Given the description of an element on the screen output the (x, y) to click on. 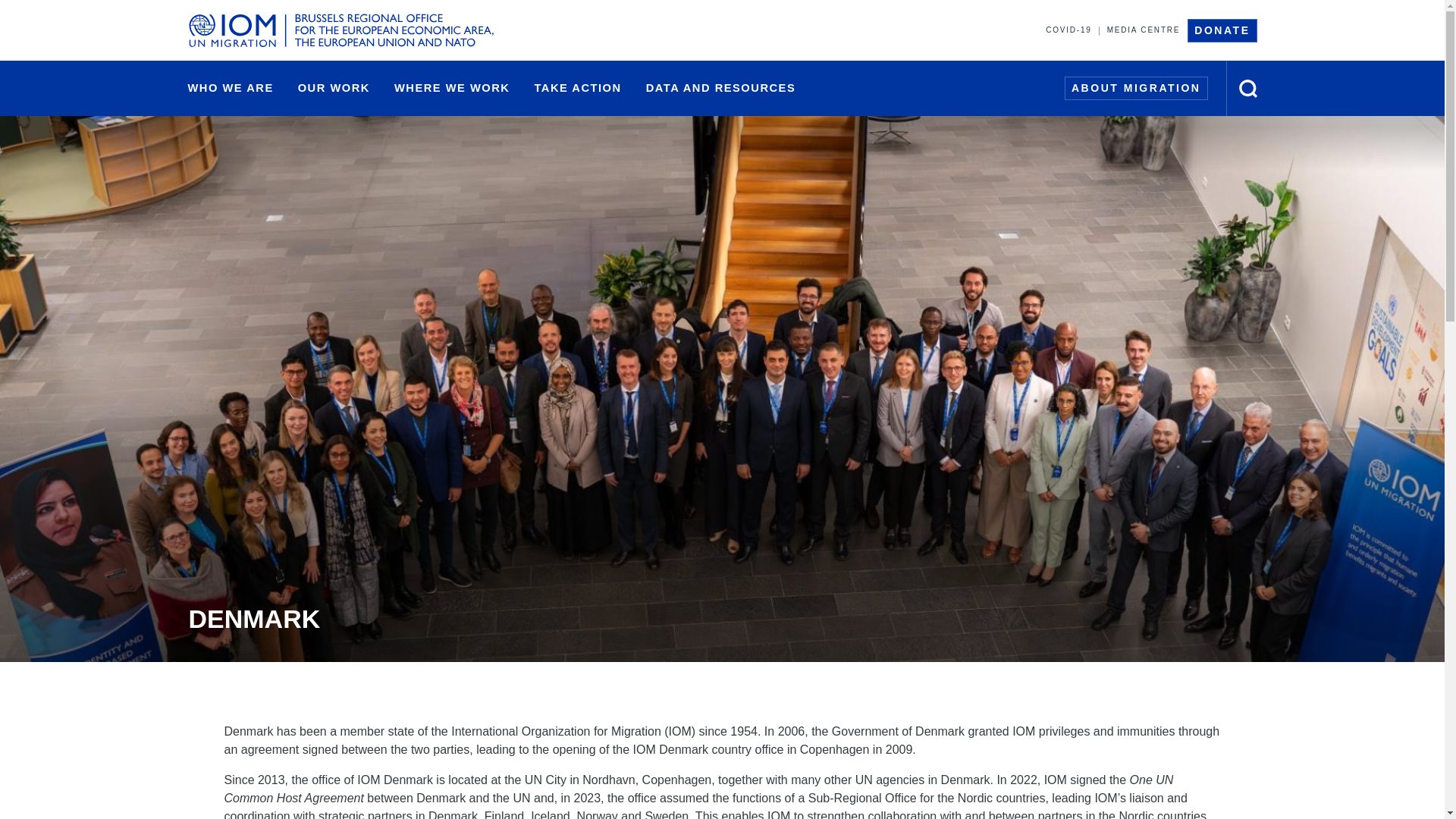
Home (341, 30)
DONATE (1222, 29)
2030 AGENDA (824, 88)
WHO WE ARE (230, 88)
OUR WORK (333, 88)
Skip to main content (721, 1)
ABOUT MIGRATION (1136, 87)
TAKE ACTION (577, 88)
WHERE WE WORK (451, 88)
DATA AND RESOURCES (720, 88)
COVID-19 (1068, 30)
Click here to Search our website (1248, 87)
MEDIA CENTRE (1143, 30)
